Given the description of an element on the screen output the (x, y) to click on. 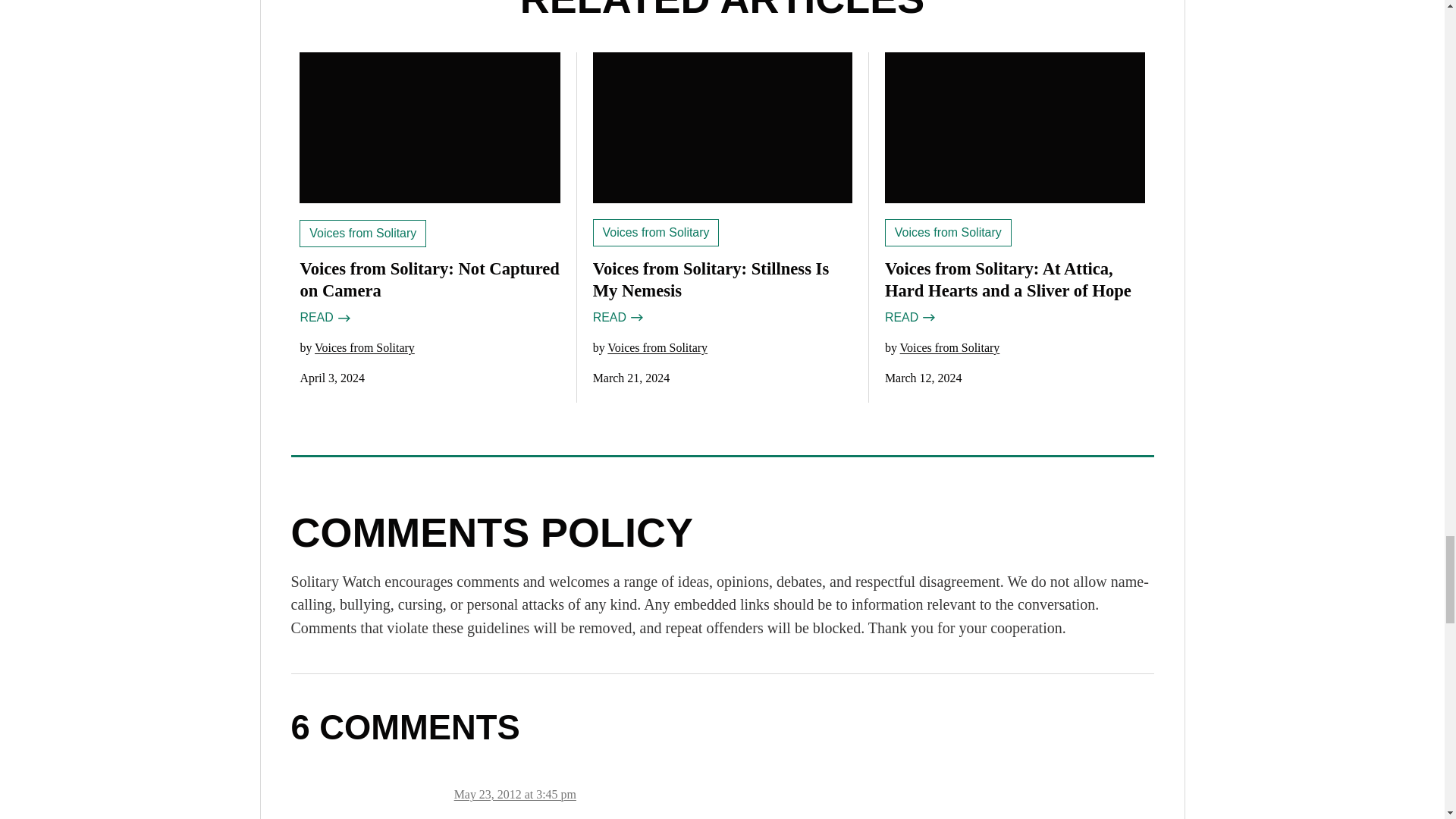
ARROW POINTING RIGHT (343, 317)
ARROW POINTING RIGHT (636, 317)
ARROW POINTING RIGHT (928, 317)
